Given the description of an element on the screen output the (x, y) to click on. 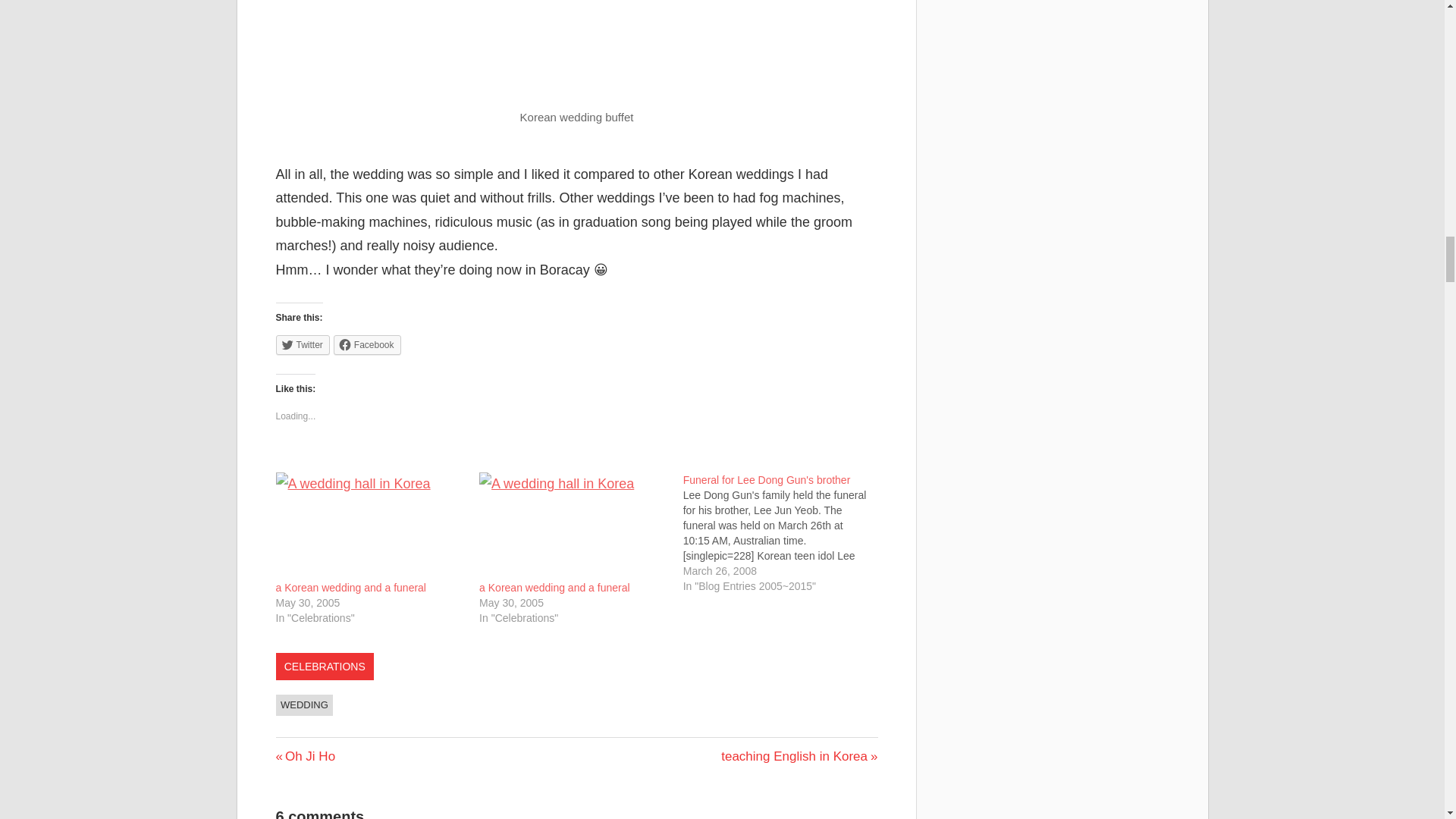
a Korean wedding and a funeral (306, 756)
a Korean wedding and a funeral (553, 587)
a Korean wedding and a funeral (351, 587)
a Korean wedding and a funeral (553, 587)
a Korean wedding and a funeral (573, 525)
Click to share on Twitter (351, 587)
Facebook (303, 344)
a Korean wedding and a funeral (367, 344)
WEDDING (370, 525)
CELEBRATIONS (304, 704)
Click to share on Facebook (325, 666)
Funeral for Lee Dong Gun's brother (367, 344)
Twitter (798, 756)
